Given the description of an element on the screen output the (x, y) to click on. 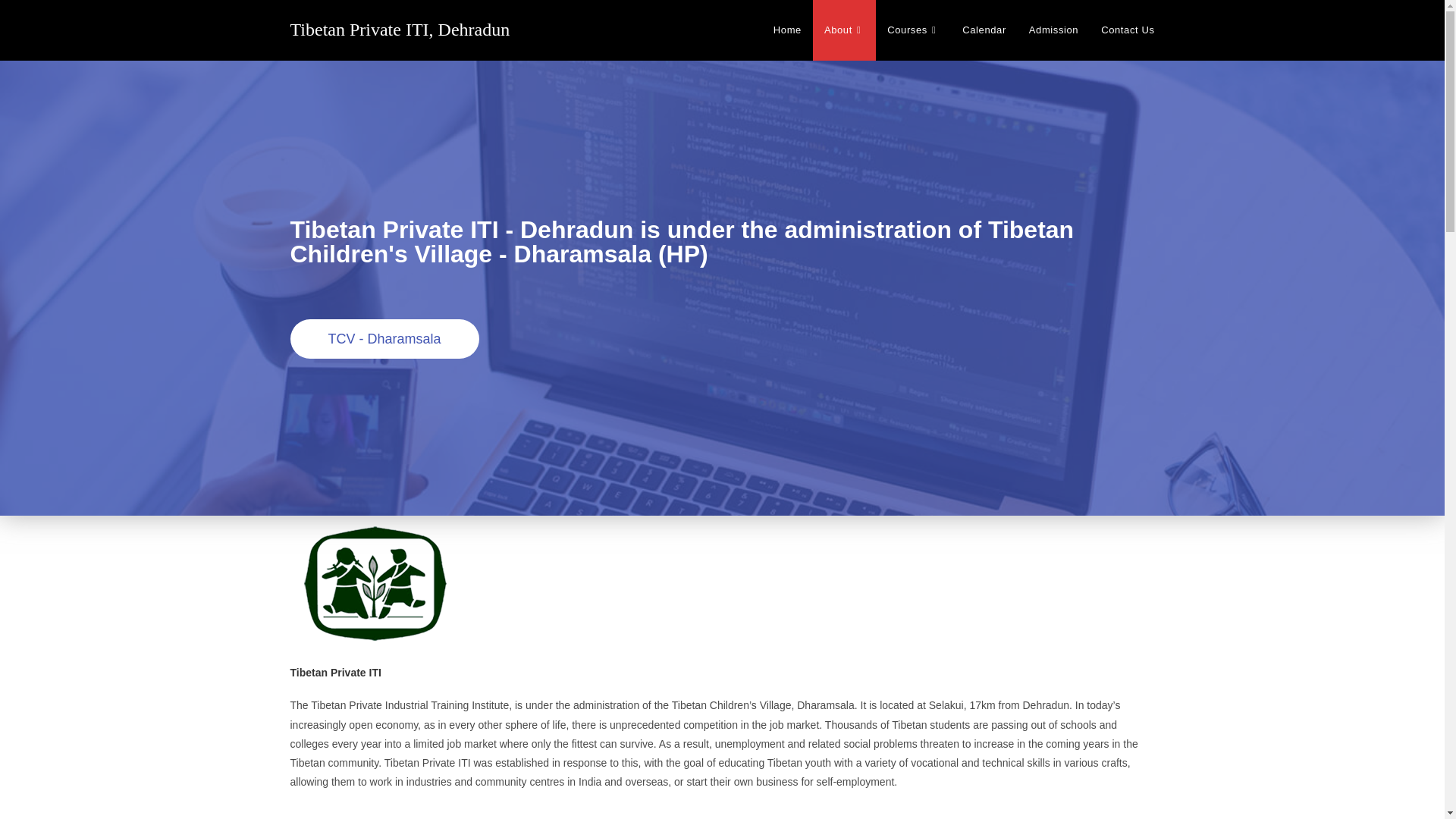
Admission (1053, 30)
Courses (913, 30)
About (844, 30)
Contact Us (1127, 30)
Tibetan Private ITI, Dehradun (399, 29)
Calendar (983, 30)
